Given the description of an element on the screen output the (x, y) to click on. 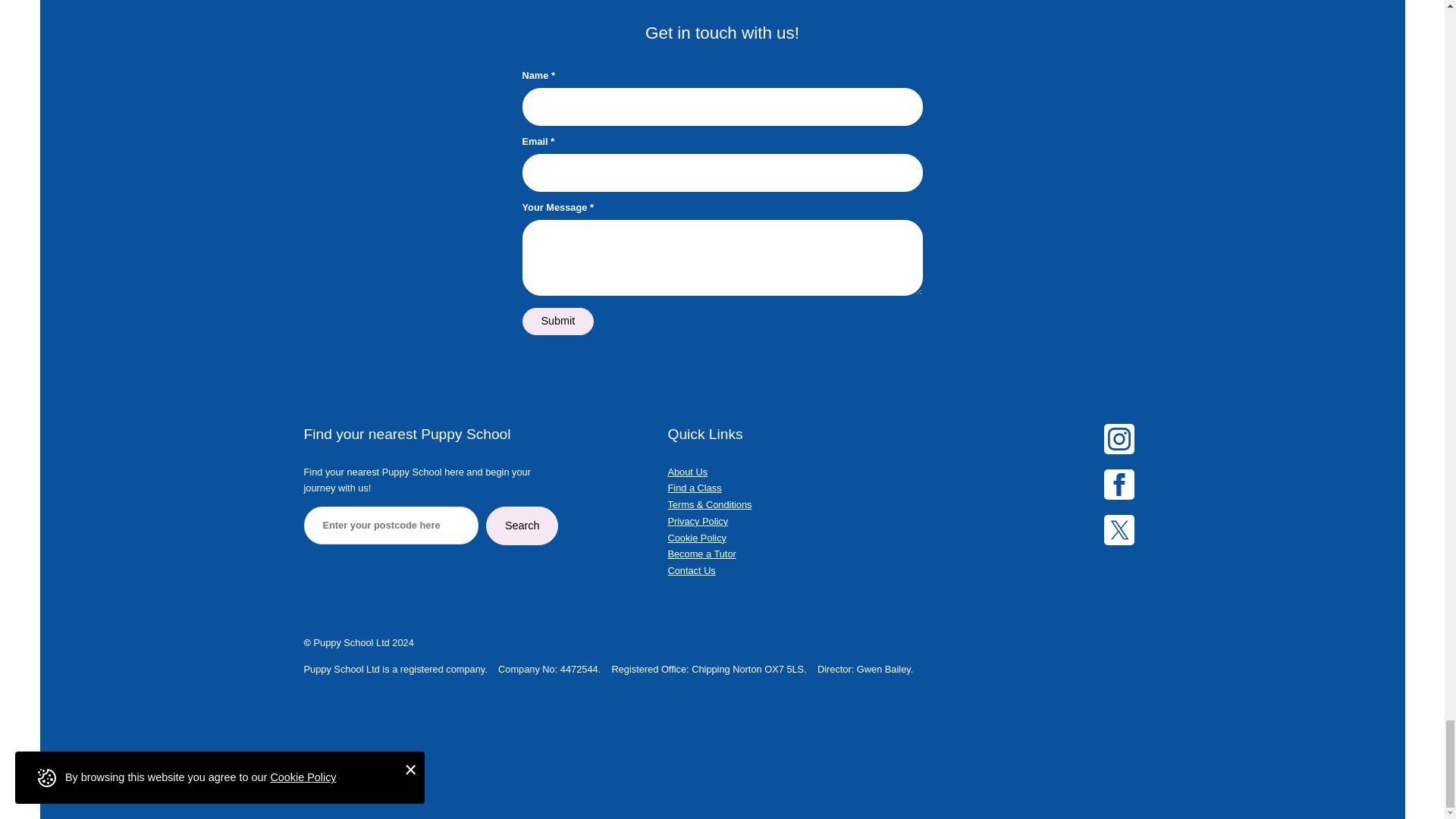
Cookie Policy (696, 537)
About Us (686, 471)
Become a Tutor (700, 553)
Search (522, 525)
Find a Class (693, 487)
Privacy Policy (697, 521)
Submit (557, 320)
